Given the description of an element on the screen output the (x, y) to click on. 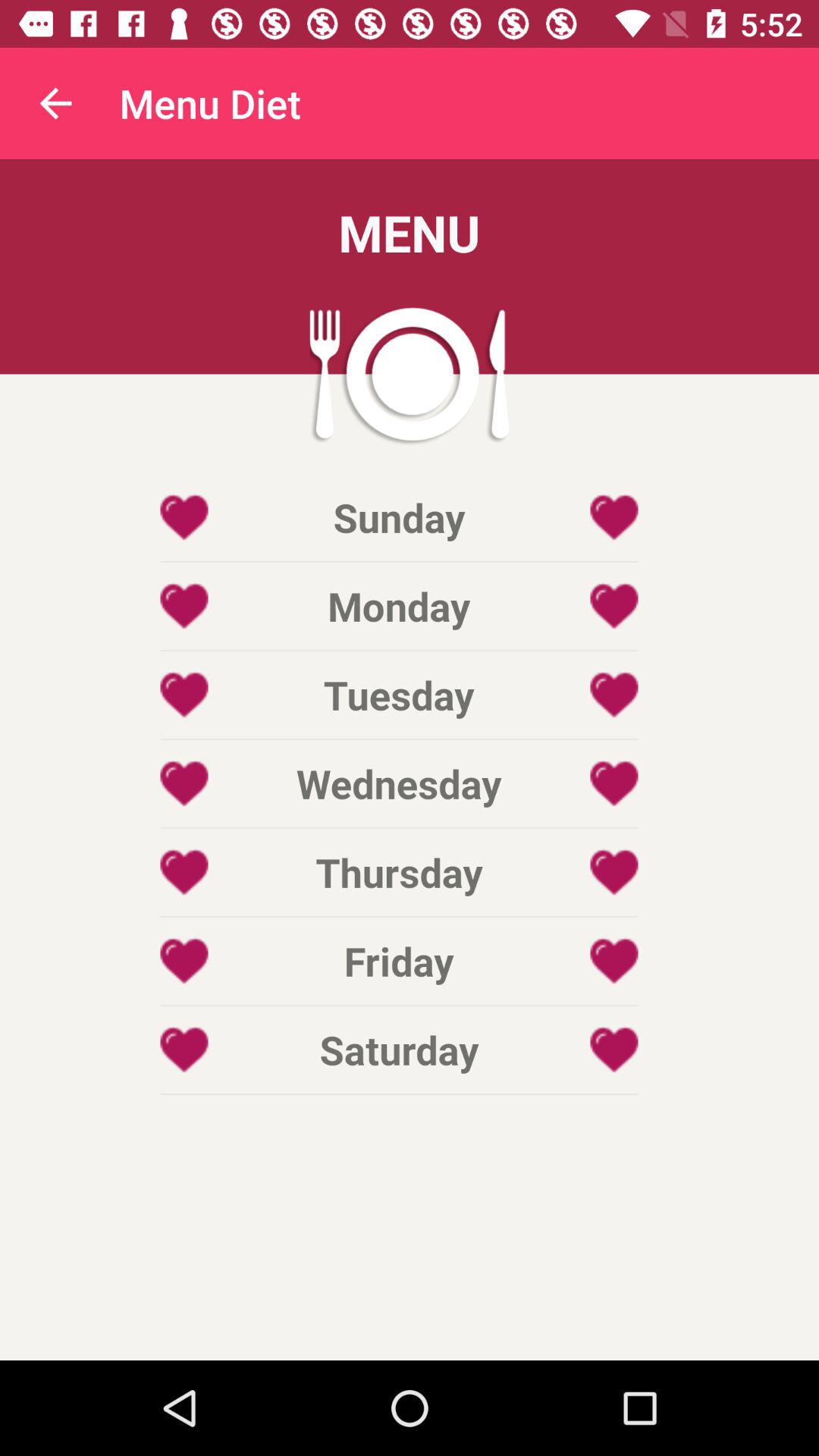
select the sunday (399, 516)
